Given the description of an element on the screen output the (x, y) to click on. 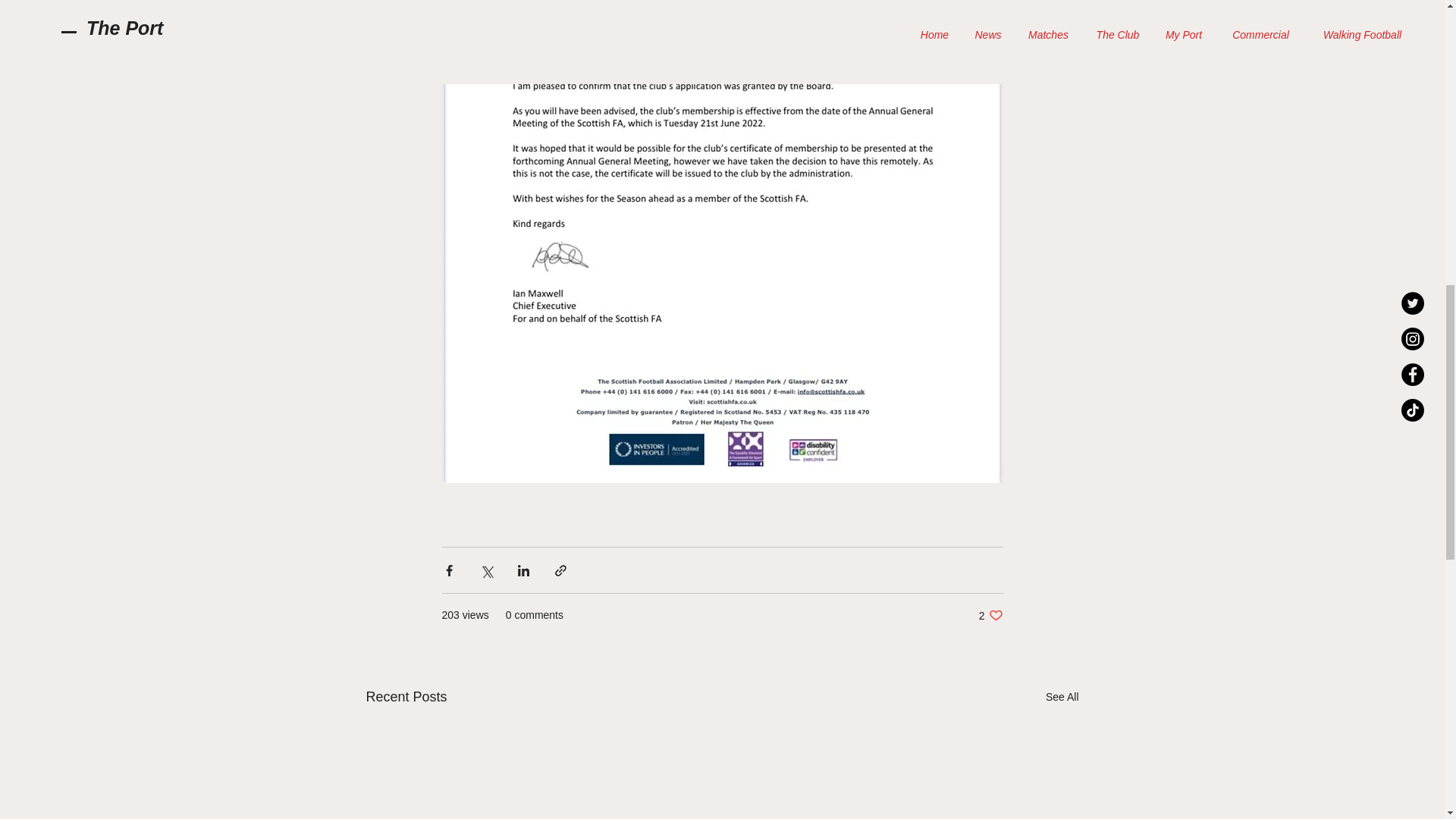
See All (990, 615)
